Given the description of an element on the screen output the (x, y) to click on. 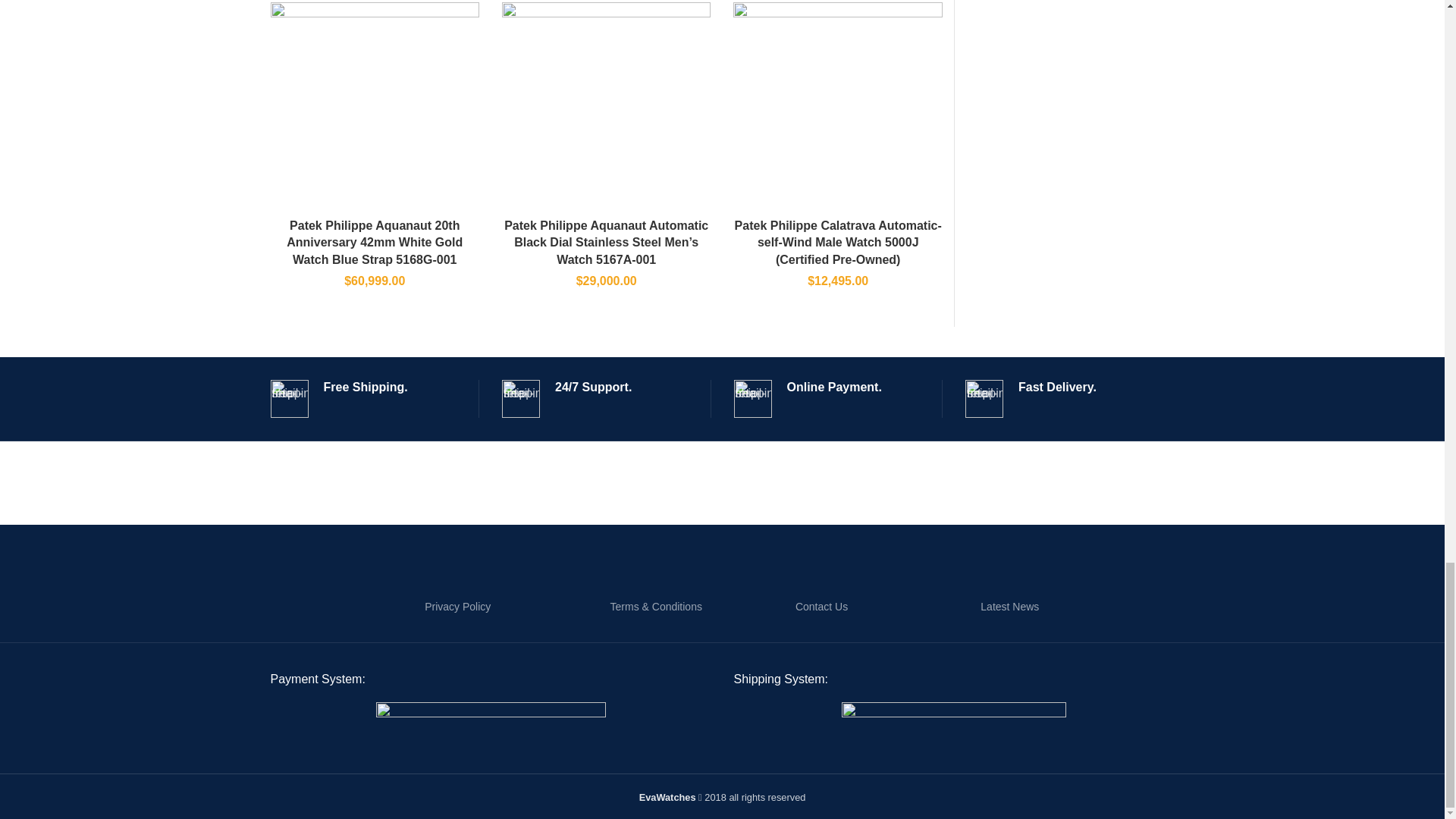
retail-free-shipping (521, 398)
retail-free-shipping (288, 398)
